Given the description of an element on the screen output the (x, y) to click on. 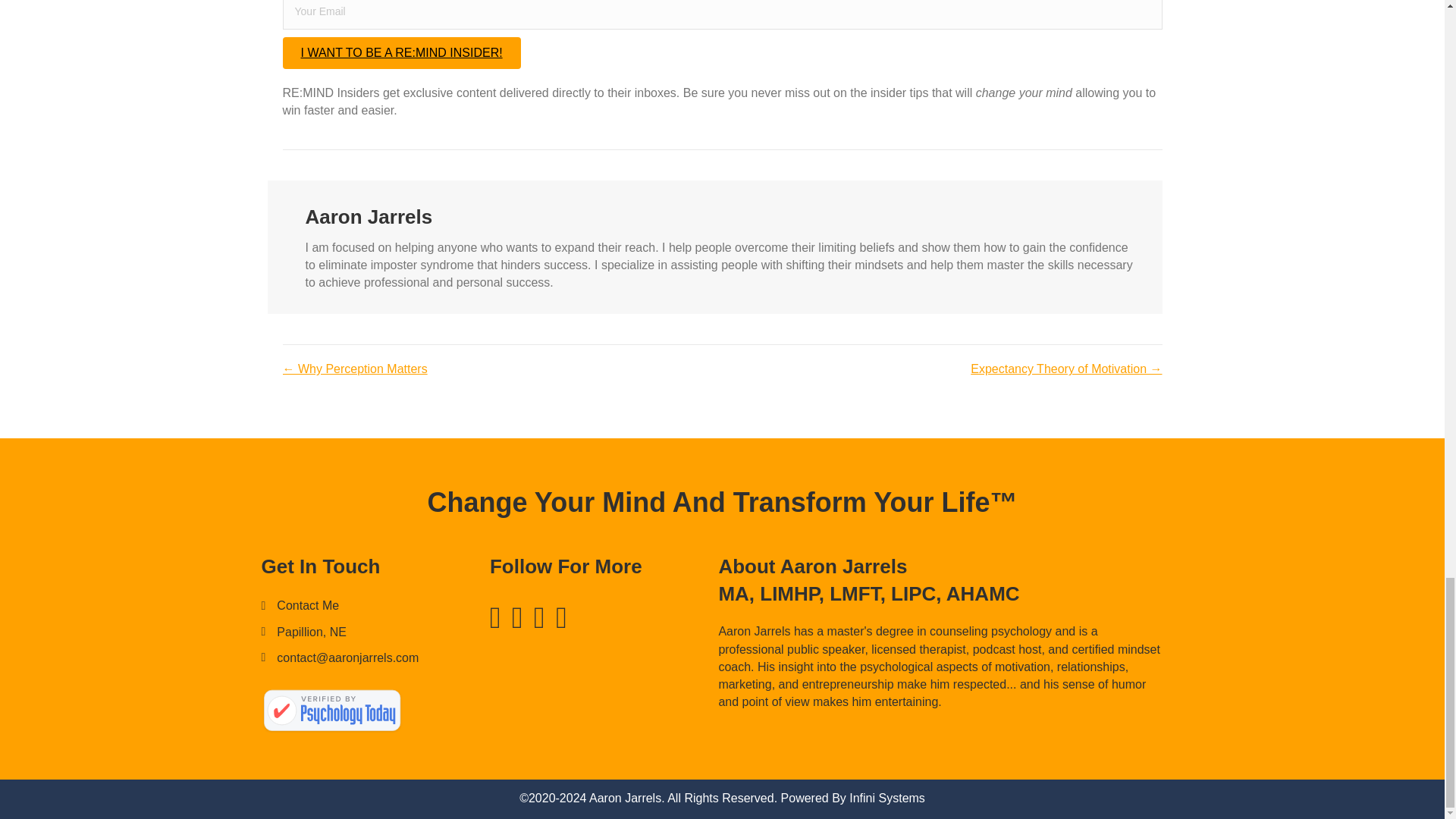
Contact Me (307, 605)
I WANT TO BE A RE:MIND INSIDER! (400, 52)
Aaron Jarrels (330, 710)
Infini Systems (886, 797)
